Given the description of an element on the screen output the (x, y) to click on. 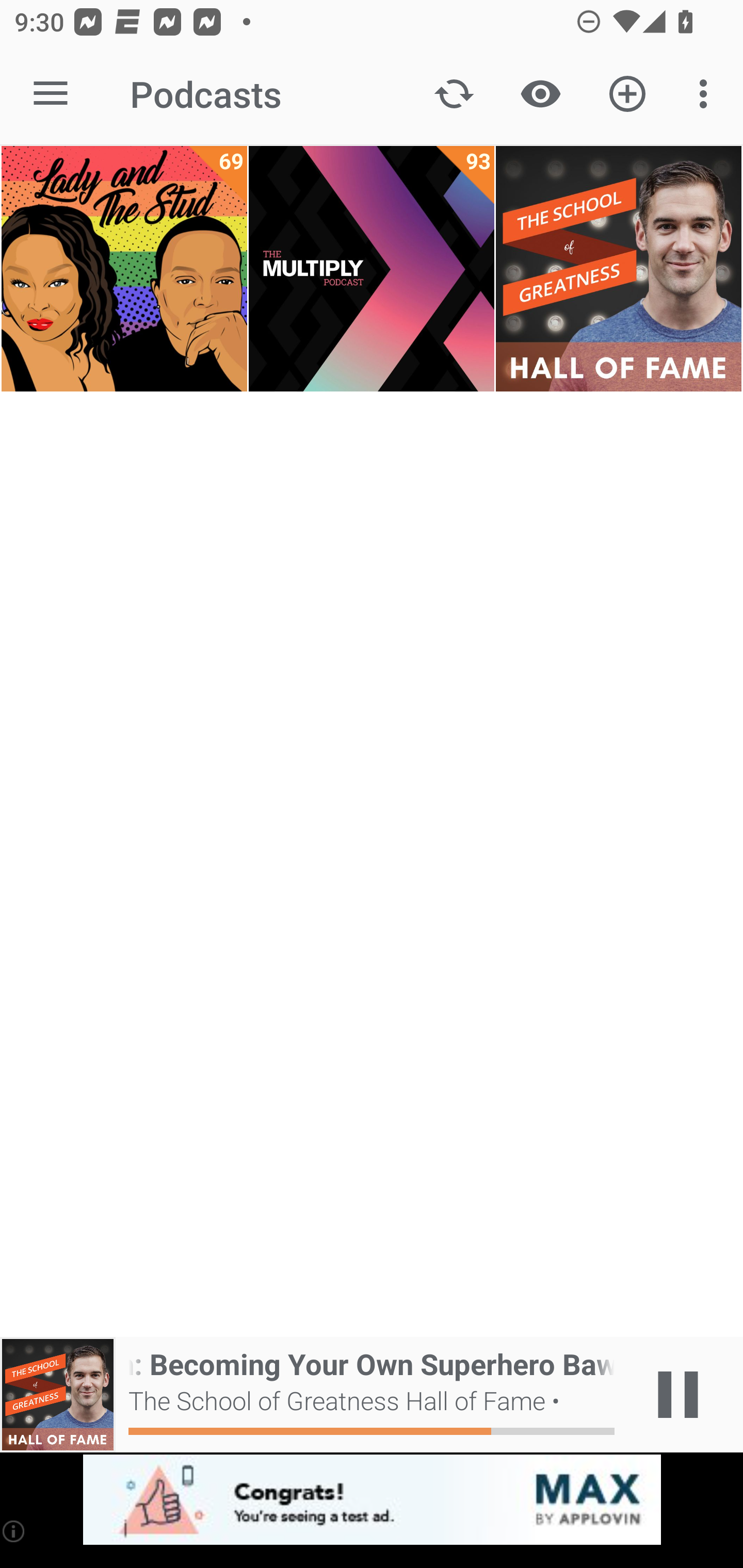
Open navigation sidebar (50, 93)
Update (453, 93)
Show / Hide played content (540, 93)
Add new Podcast (626, 93)
More options (706, 93)
Lady and The Stud 69 (124, 268)
The Multiply Podcast 93 (371, 268)
The School of Greatness Hall of Fame (618, 268)
Play / Pause (677, 1394)
app-monetization (371, 1500)
(i) (14, 1531)
